Given the description of an element on the screen output the (x, y) to click on. 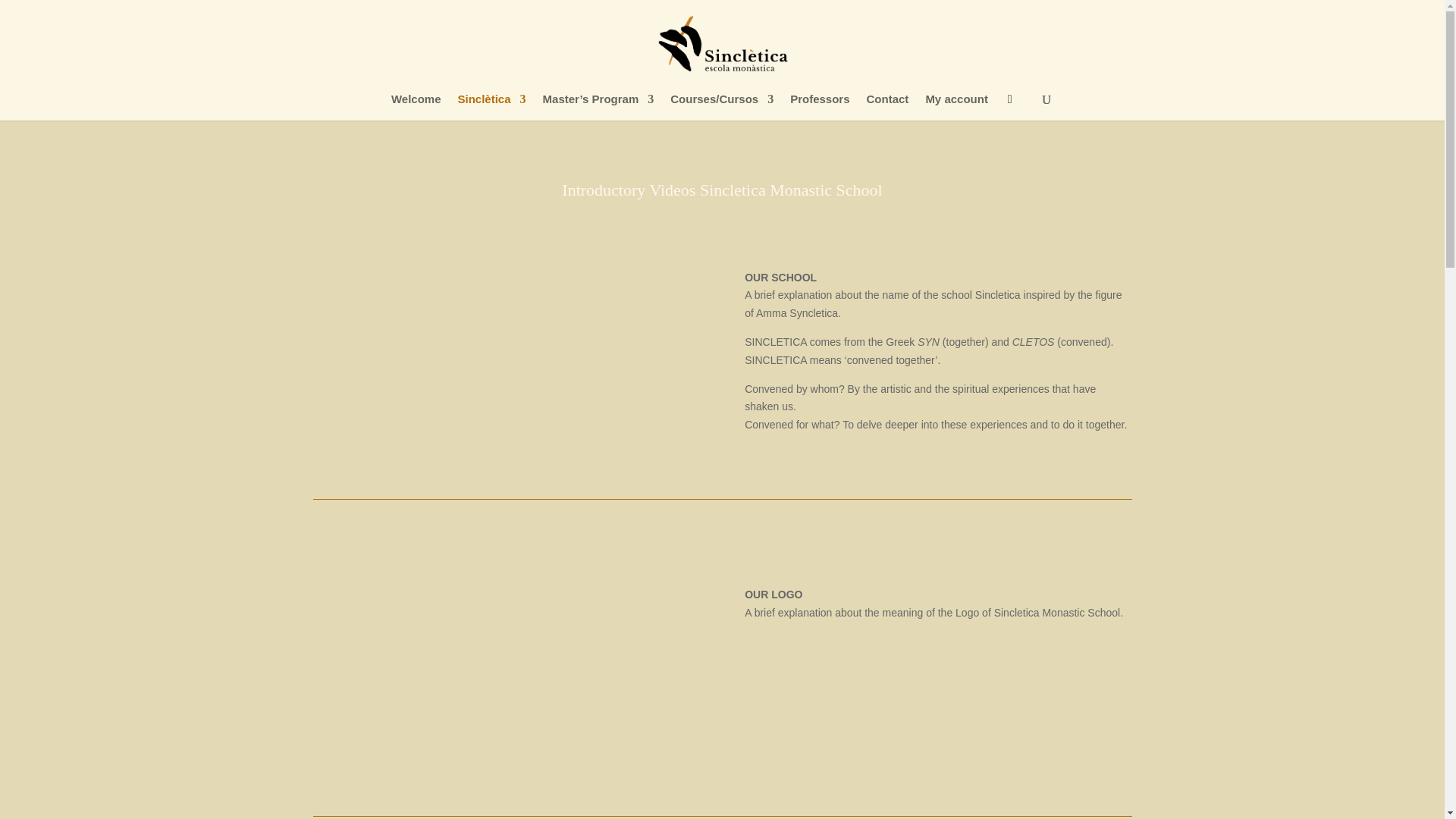
My account (956, 107)
Welcome (416, 107)
Professors (819, 107)
Contact (887, 107)
